Given the description of an element on the screen output the (x, y) to click on. 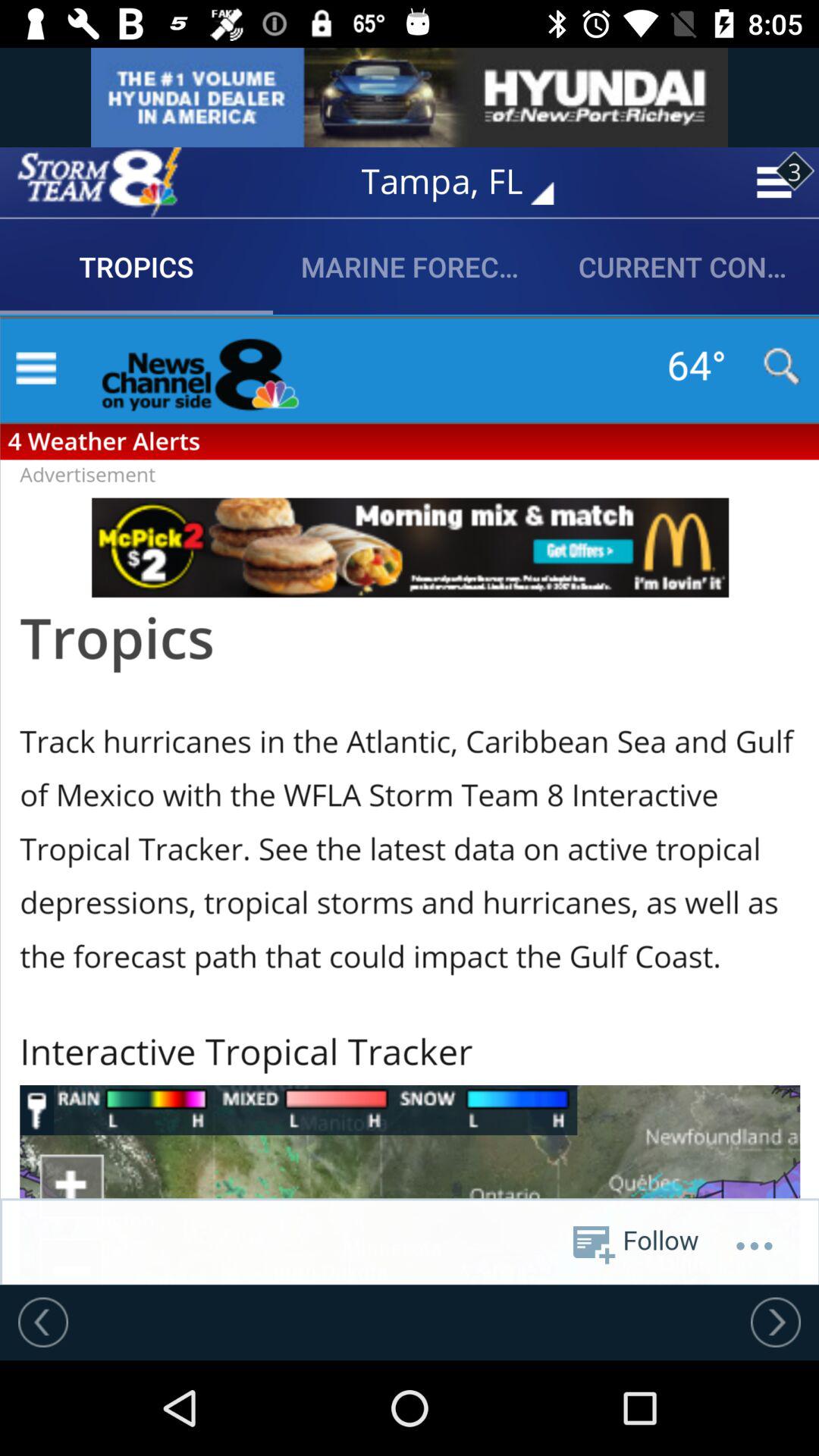
next page (775, 1322)
